Given the description of an element on the screen output the (x, y) to click on. 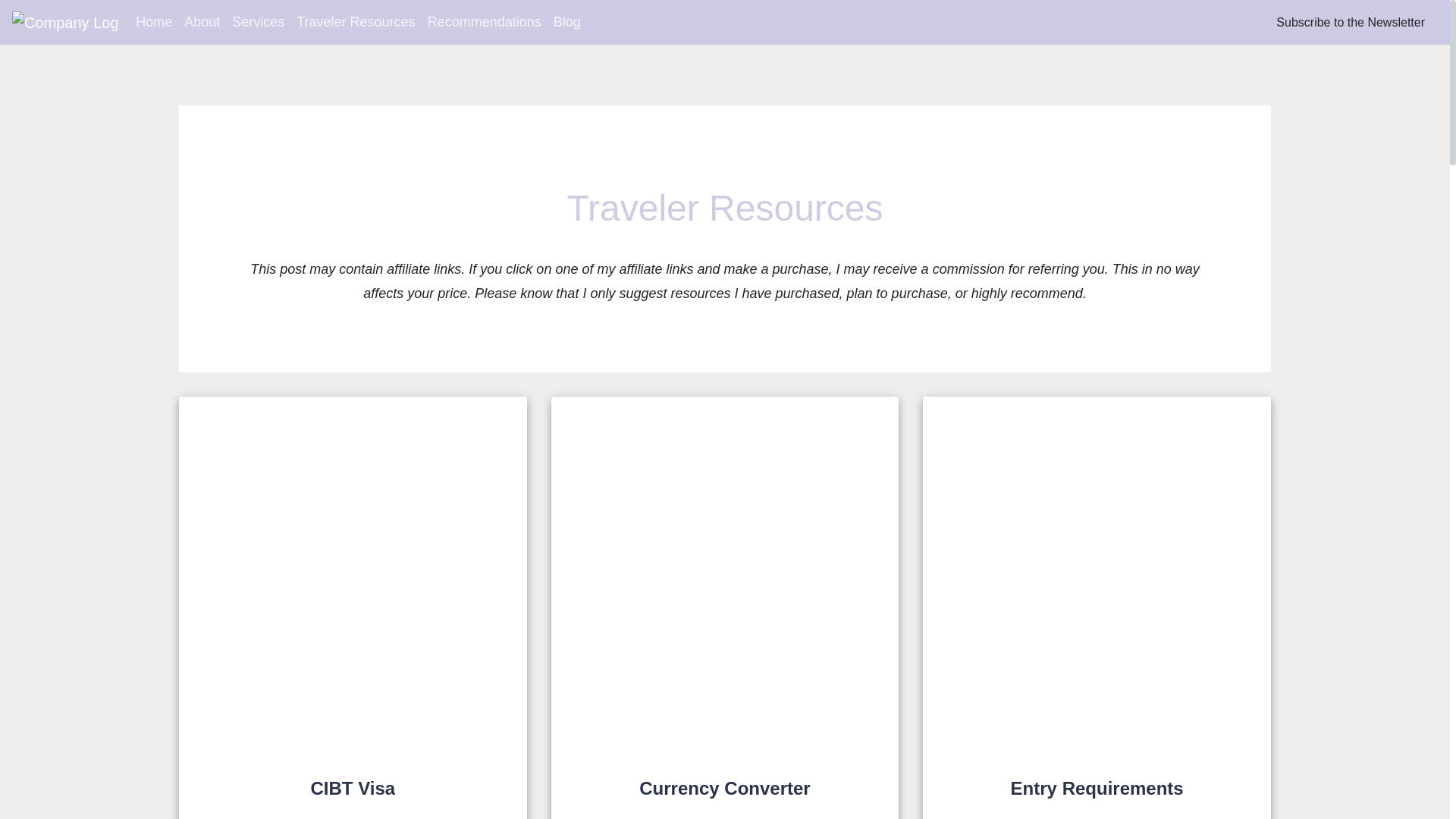
About (201, 21)
Services (257, 21)
Blog (566, 21)
Home (153, 21)
Recommendations (484, 21)
Traveler Resources (354, 21)
Subscribe to the Newsletter (1350, 21)
